Given the description of an element on the screen output the (x, y) to click on. 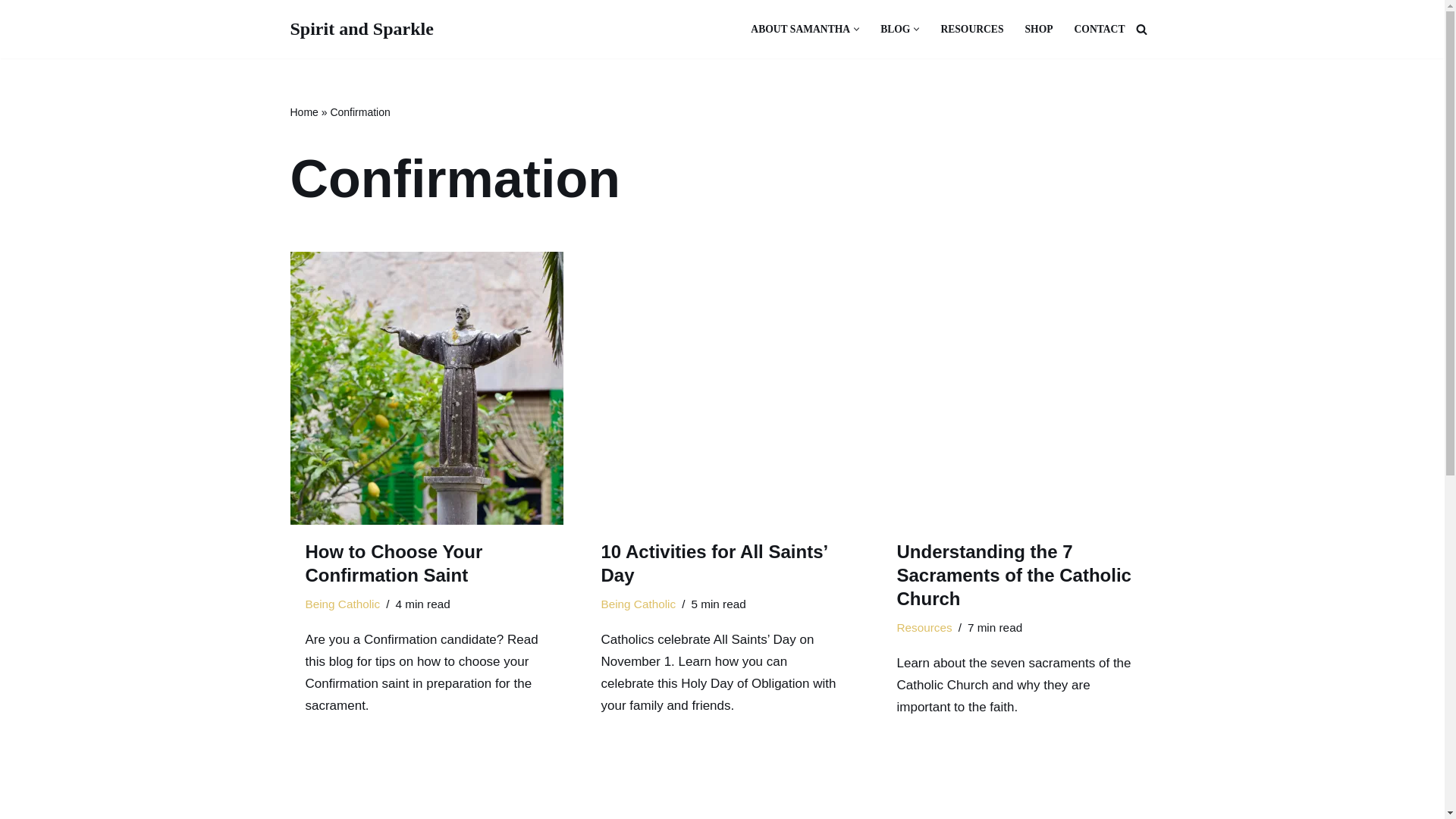
Prayers for Confirmation (425, 795)
RESOURCES (971, 28)
BLOG (895, 28)
Being Catholic (342, 603)
Home (303, 111)
SHOP (1038, 28)
CONTACT (1099, 28)
Understanding the 7 Sacraments of the Catholic Church (1017, 387)
How to Choose Your Confirmation Saint (425, 387)
How to Choose Your Confirmation Saint (392, 563)
Skip to content (11, 31)
ABOUT SAMANTHA (800, 28)
Spirit and Sparkle (360, 29)
